Given the description of an element on the screen output the (x, y) to click on. 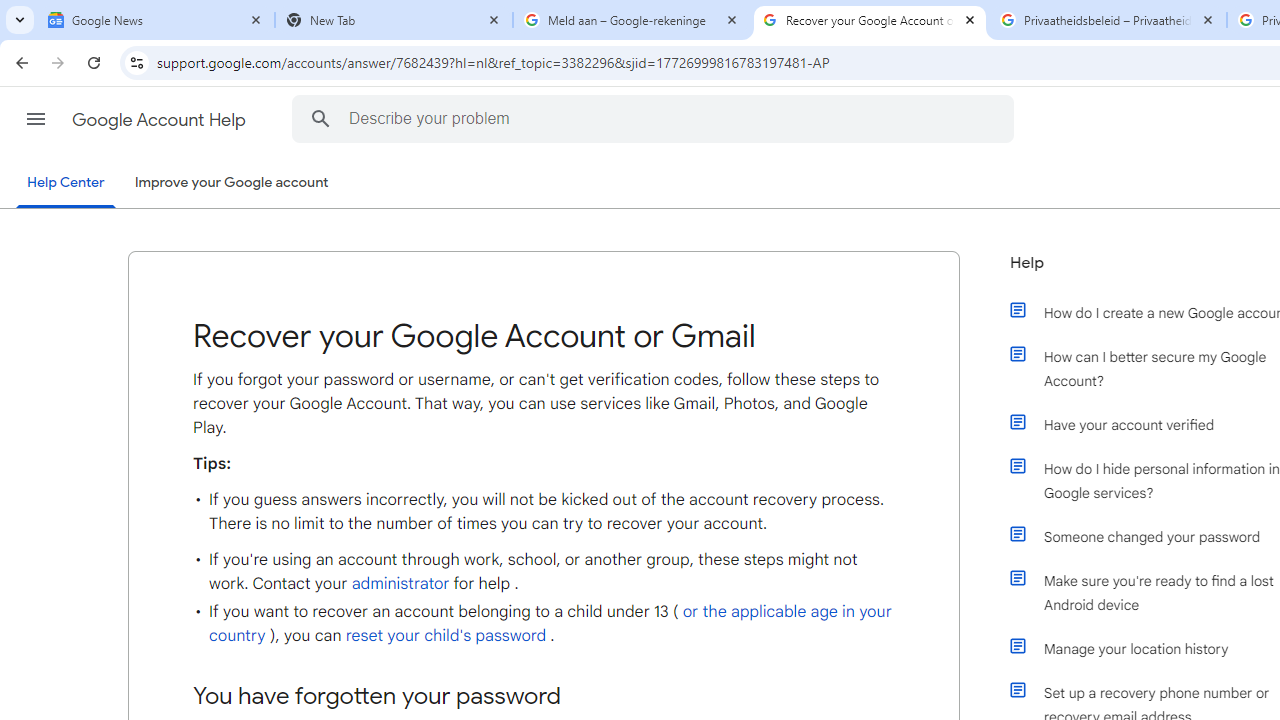
Google Account Help (160, 119)
Recover your Google Account or Gmail - Google Account Help (870, 20)
Improve your Google account (231, 183)
Search the Help Center (320, 118)
reset your child's password (445, 635)
or the applicable age in your country (550, 623)
